Given the description of an element on the screen output the (x, y) to click on. 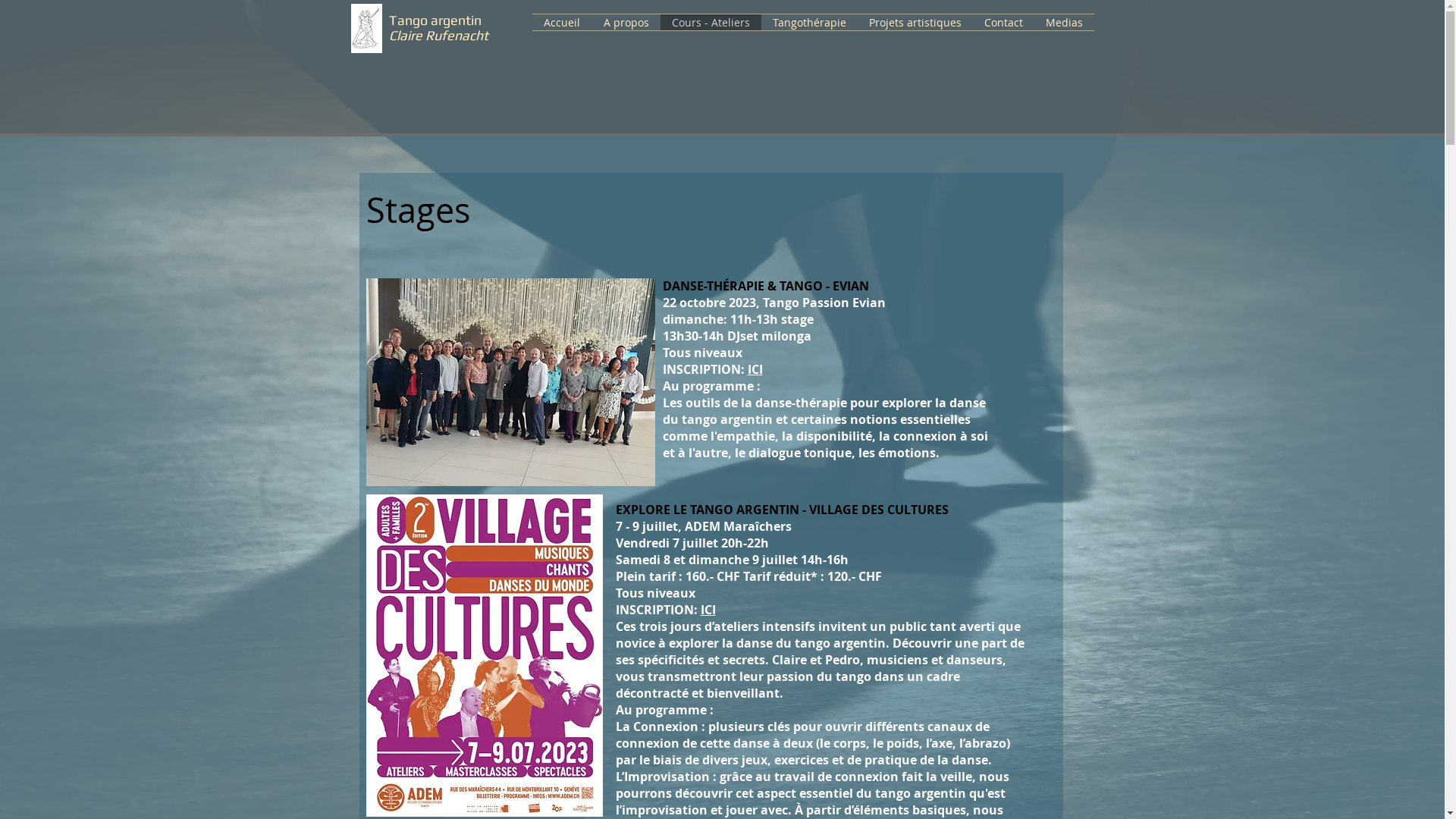
Projets artistiques Element type: text (914, 22)
LogoTango.jpg Element type: hover (365, 28)
Accueil Element type: text (562, 22)
A propos Element type: text (625, 22)
ICI Element type: text (754, 368)
Contact Element type: text (1002, 22)
ICI Element type: text (707, 609)
Cours - Ateliers Element type: text (709, 22)
